Given the description of an element on the screen output the (x, y) to click on. 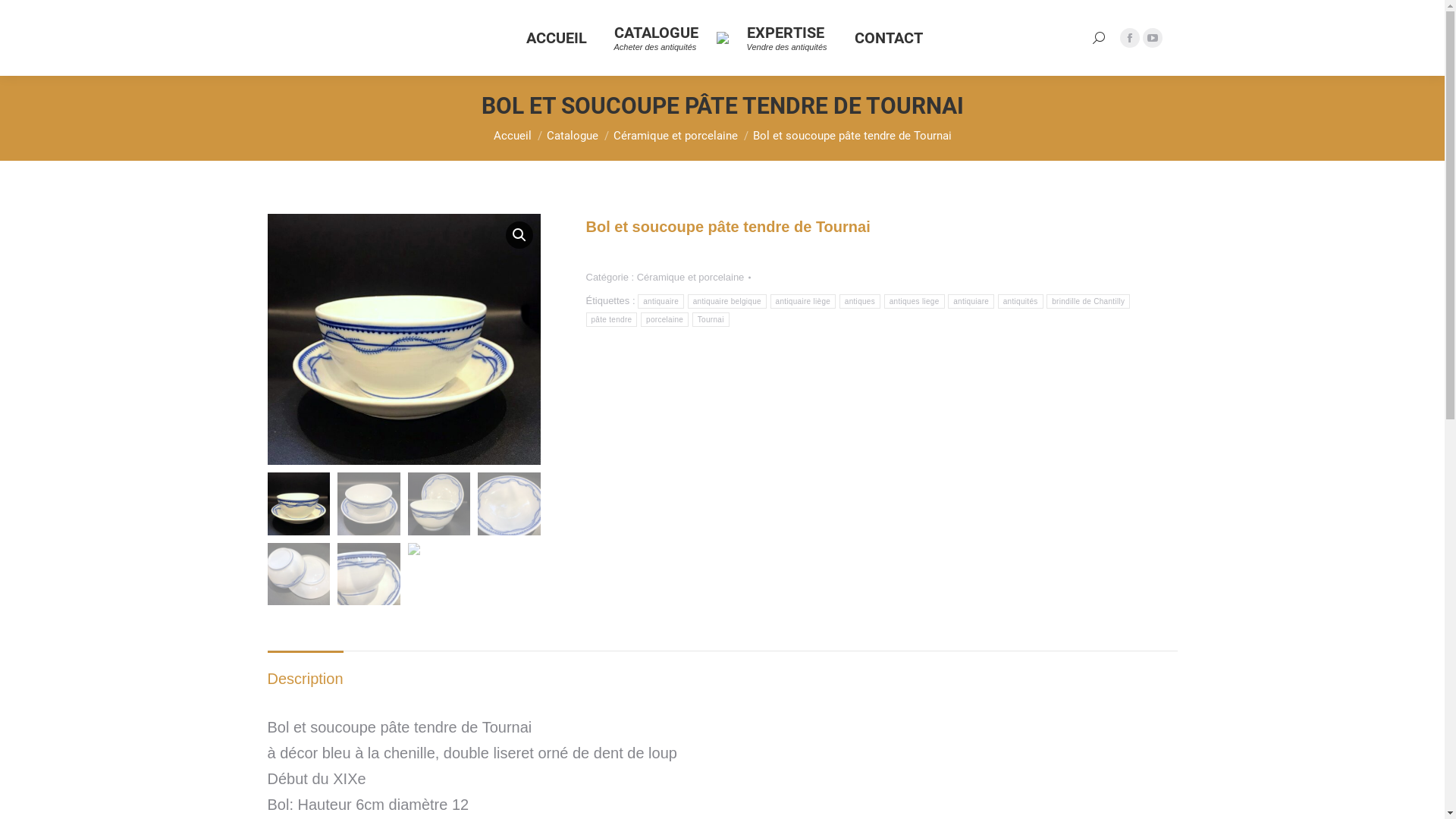
antiquaire belgique Element type: text (726, 301)
ACCUEIL Element type: text (556, 37)
antiquaire Element type: text (660, 301)
Catalogue Element type: text (571, 135)
CONTACT Element type: text (887, 37)
antiquiare Element type: text (970, 301)
porcelaine Element type: text (664, 319)
Facebook page opens in new window Element type: text (1129, 37)
antiques Element type: text (859, 301)
Description Element type: text (304, 678)
Accueil Element type: text (511, 135)
Go! Element type: text (23, 16)
Tournai Element type: text (710, 319)
YouTube page opens in new window Element type: text (1151, 37)
antiques liege Element type: text (914, 301)
brindille de Chantilly Element type: text (1087, 301)
